Given the description of an element on the screen output the (x, y) to click on. 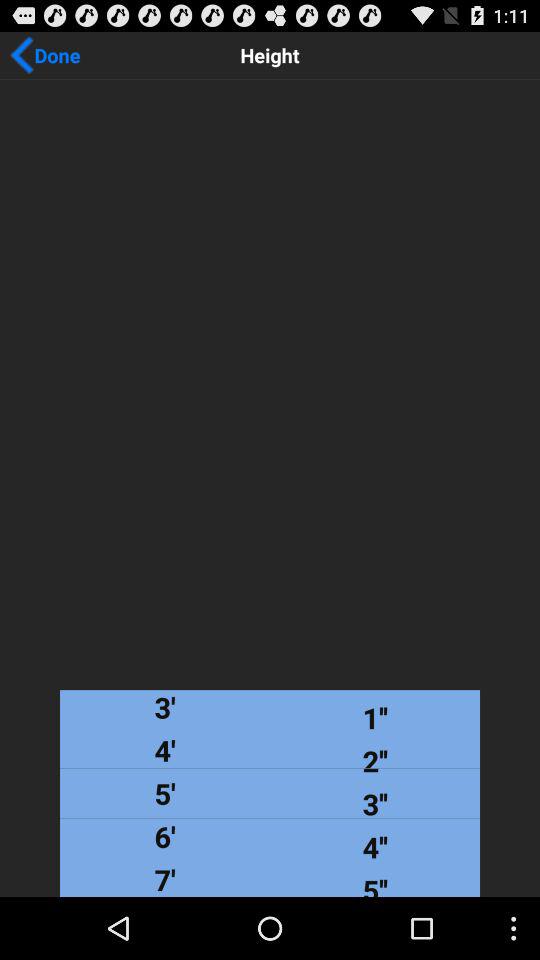
choose the done app (45, 55)
